Given the description of an element on the screen output the (x, y) to click on. 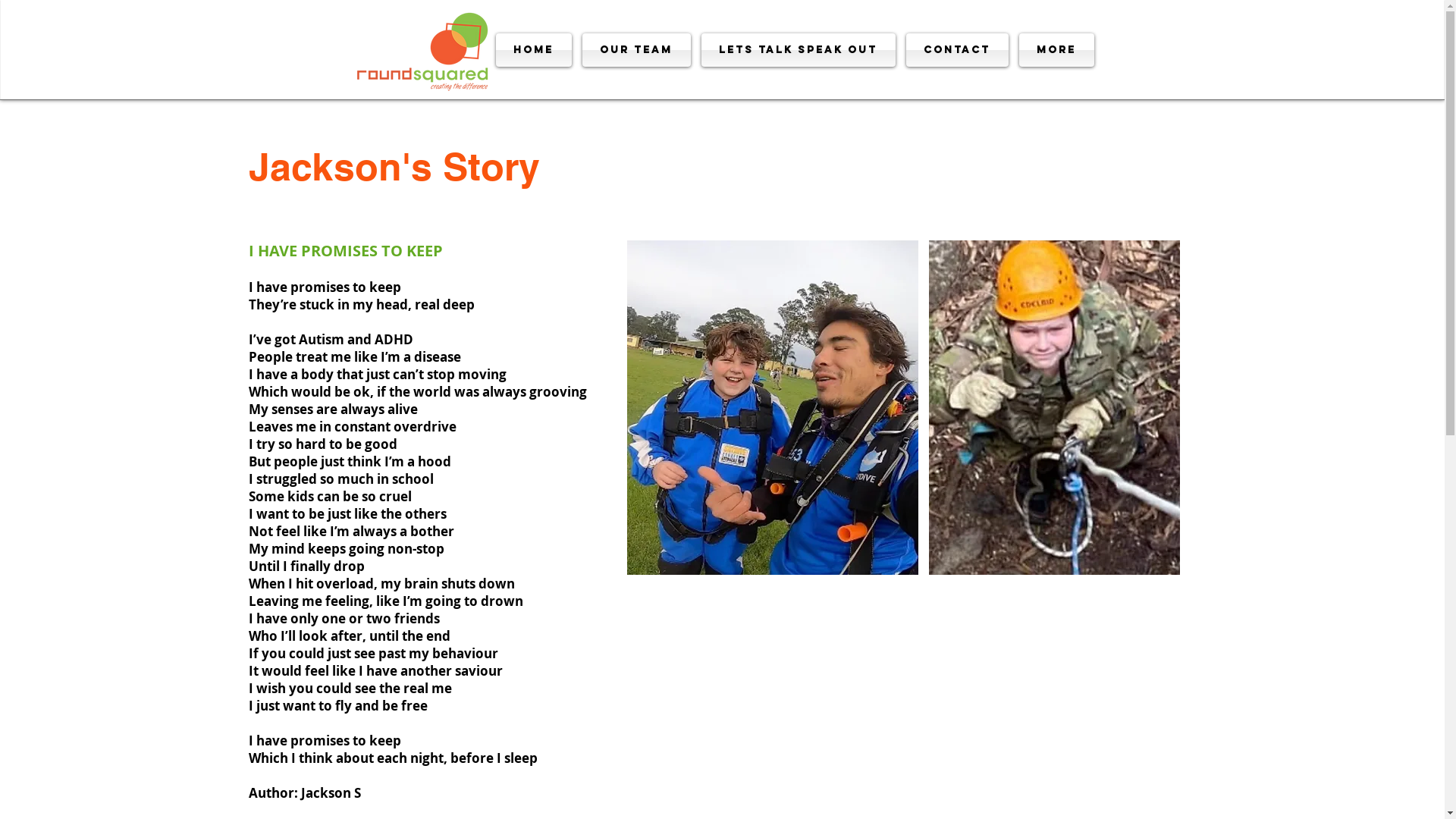
HOME Element type: text (536, 49)
LETS TALK SPEAK OUT Element type: text (798, 49)
CONTACT Element type: text (956, 49)
OUR TEAM Element type: text (635, 49)
